Given the description of an element on the screen output the (x, y) to click on. 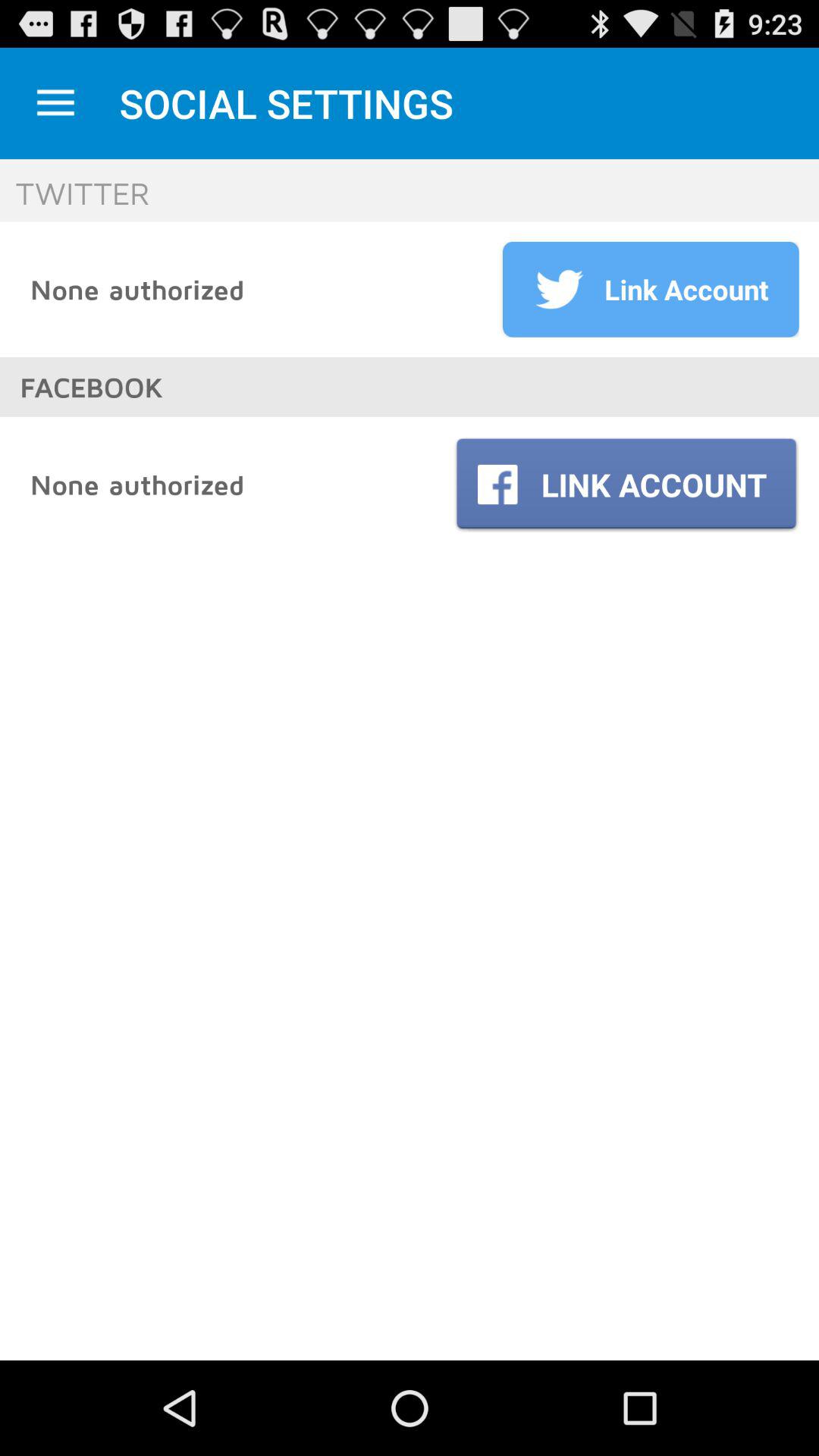
open dropdown menu (55, 103)
